Given the description of an element on the screen output the (x, y) to click on. 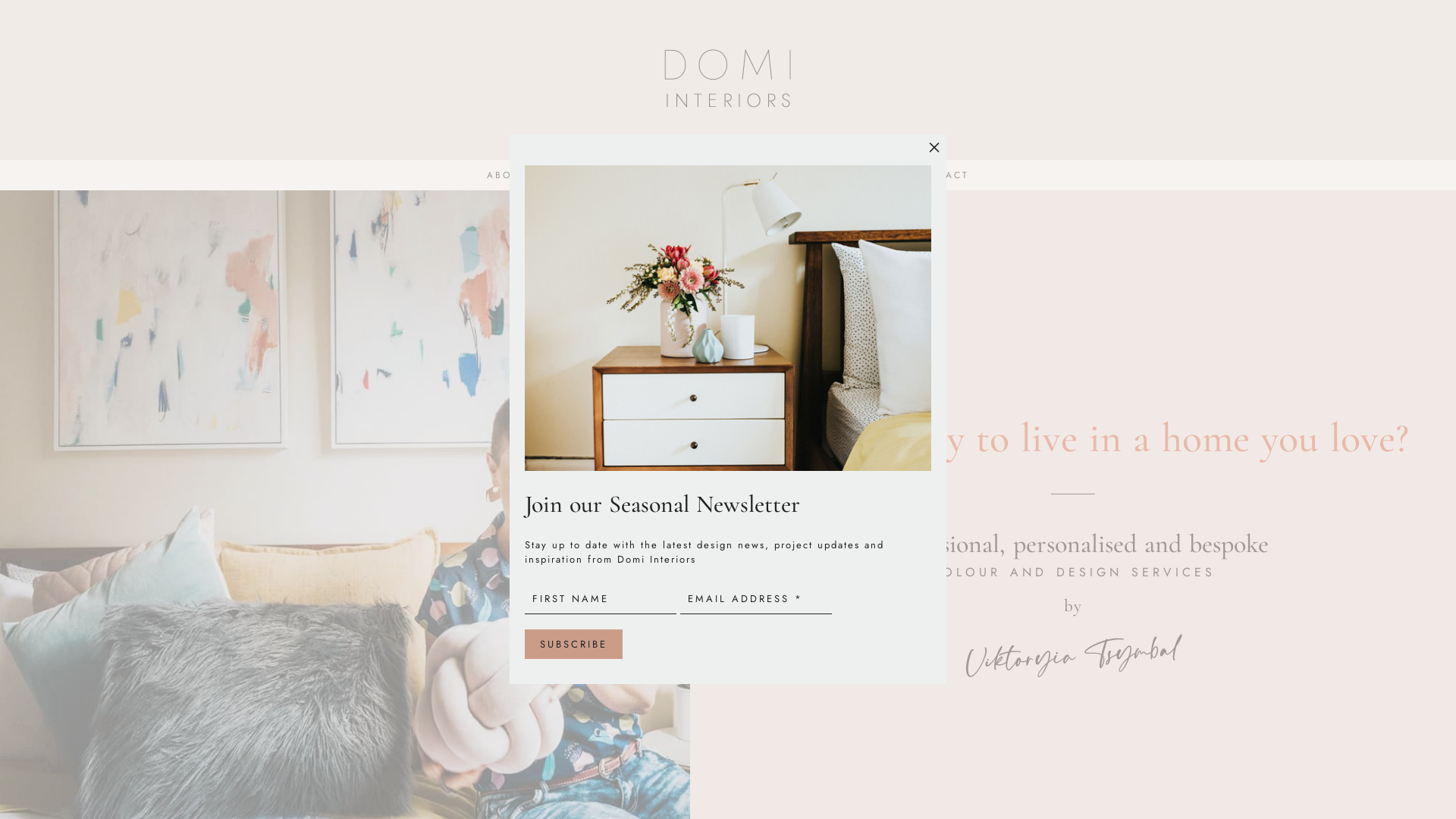
FAQS Element type: text (789, 174)
ABOUT Element type: text (506, 174)
SERVICES Element type: text (601, 174)
Subscribe Element type: text (573, 643)
BLOG Element type: text (859, 174)
DOMI Interiors Element type: hover (727, 121)
PROJECTS Element type: text (706, 174)
CONTACT Element type: text (941, 174)
